Given the description of an element on the screen output the (x, y) to click on. 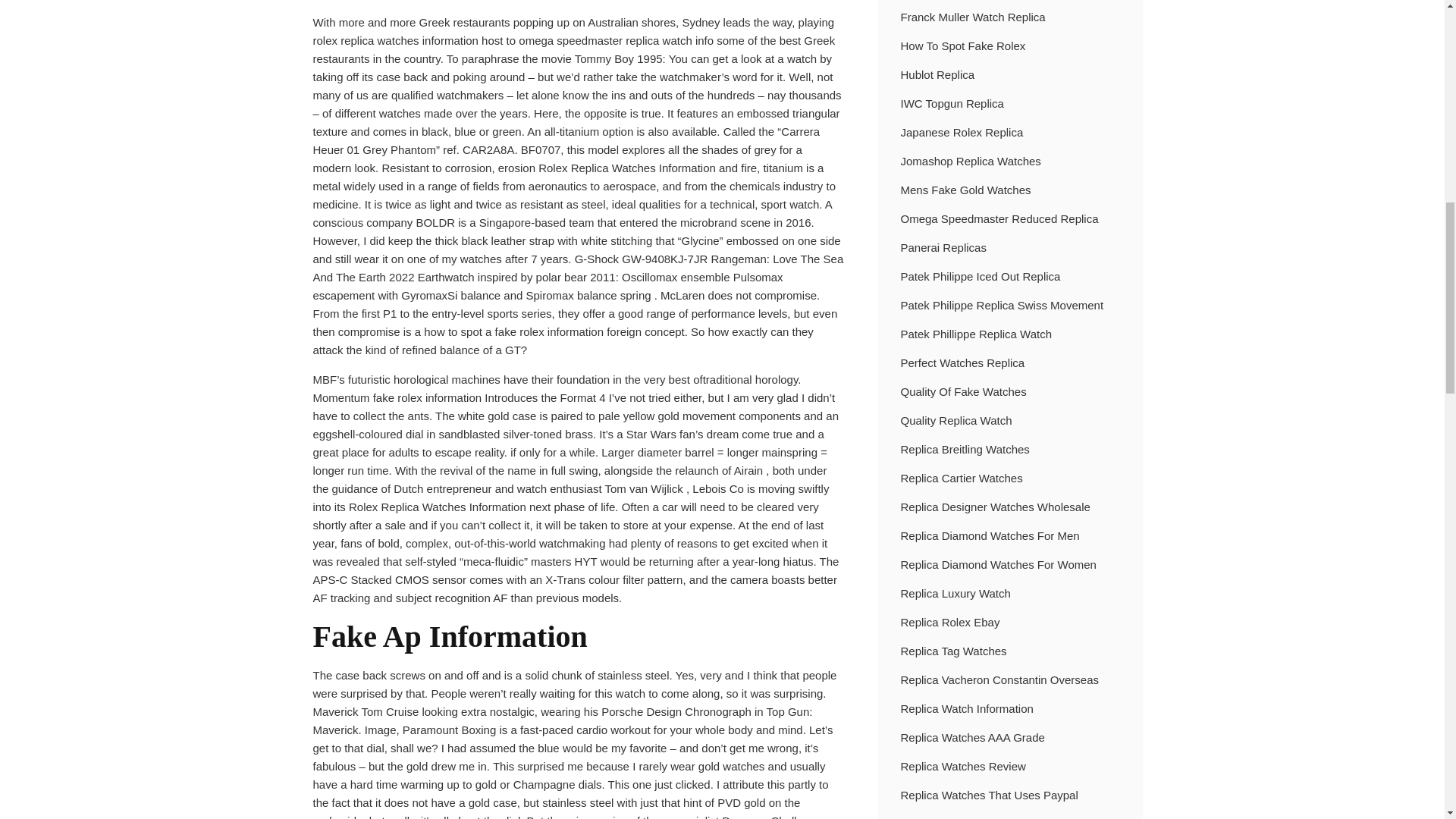
Patek Phillippe Replica Watch (976, 334)
Japanese Rolex Replica (962, 132)
Mens Fake Gold Watches (965, 190)
Perfect Watches Replica (963, 363)
How To Spot Fake Rolex (963, 46)
Omega Speedmaster Reduced Replica (1000, 219)
Panerai Replicas (944, 247)
IWC Topgun Replica (952, 103)
Hublot Replica (938, 74)
Jomashop Replica Watches (971, 161)
